Given the description of an element on the screen output the (x, y) to click on. 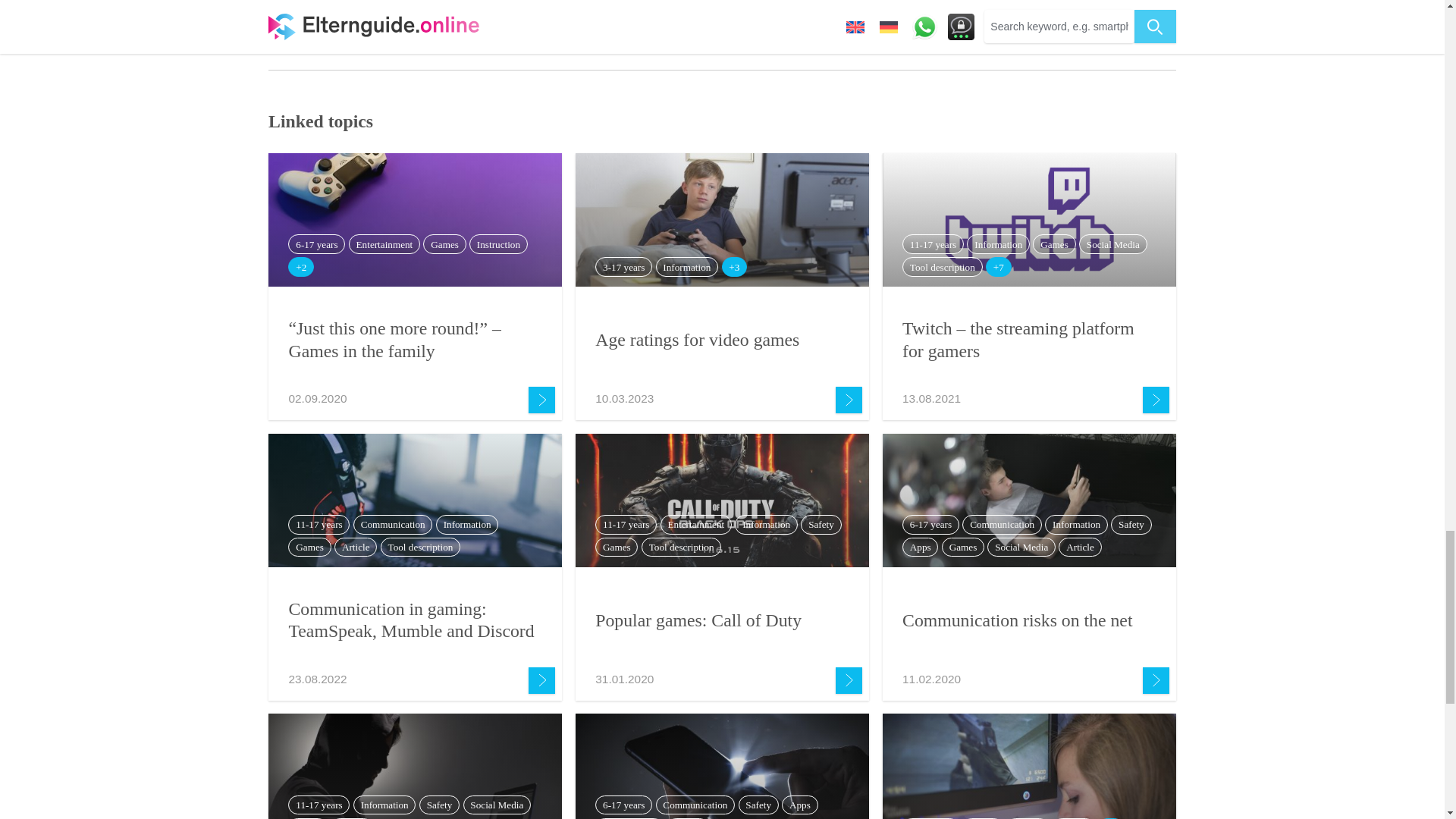
Back to homepage (721, 20)
